Given the description of an element on the screen output the (x, y) to click on. 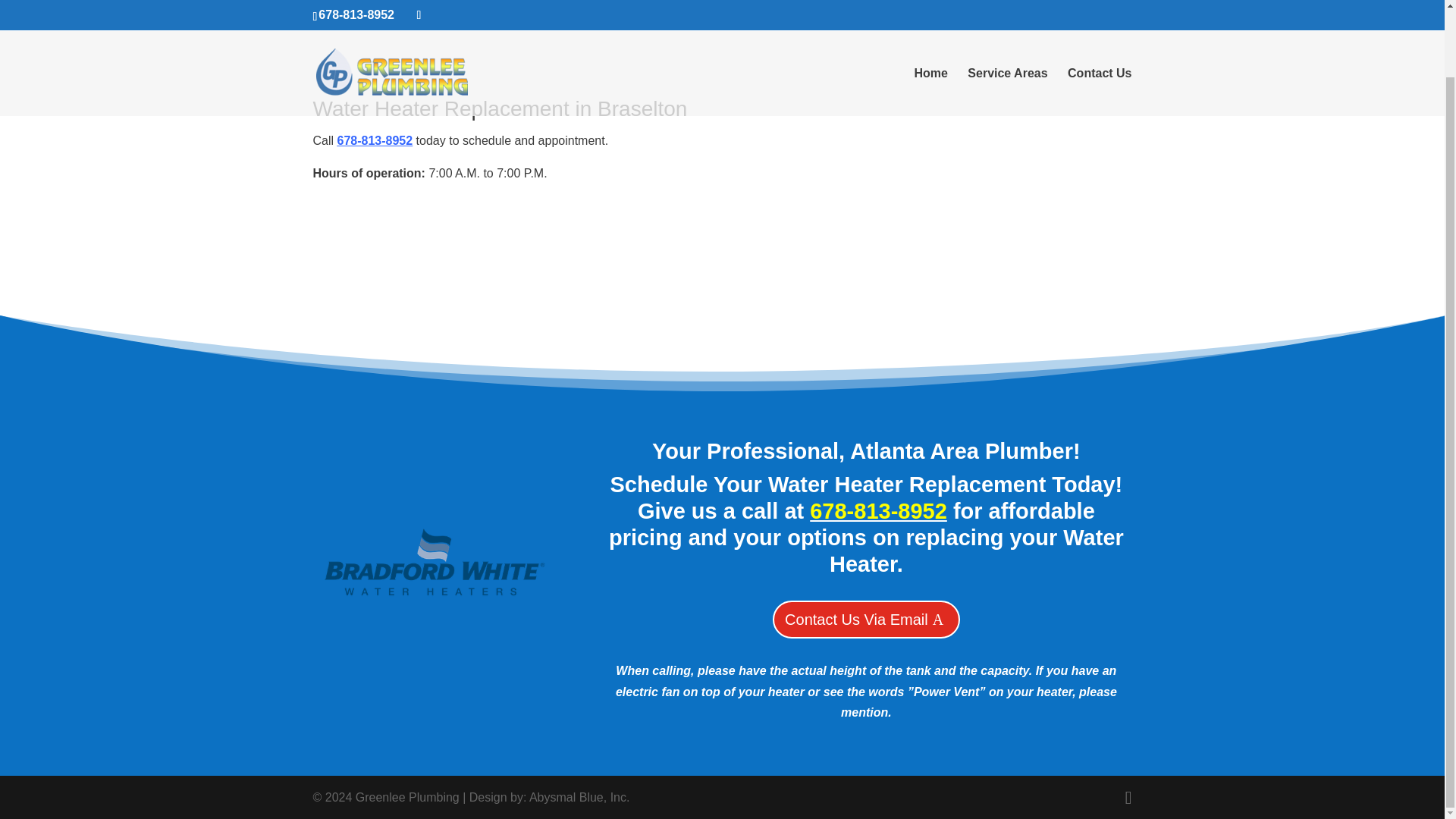
Contact Us Via Email (866, 619)
678-813-8952 (878, 510)
Service Areas (1007, 21)
Contact Us (1099, 21)
